Given the description of an element on the screen output the (x, y) to click on. 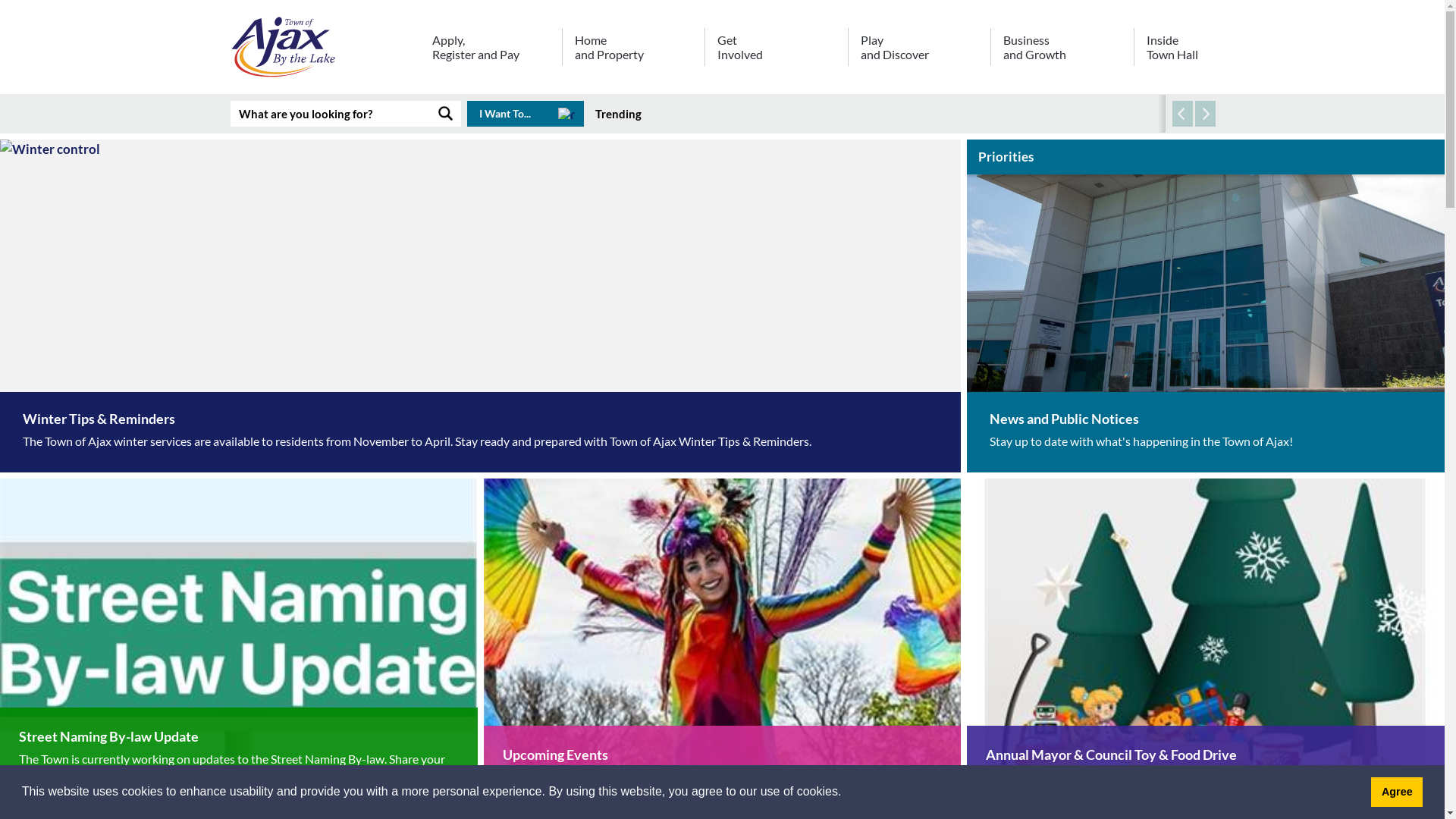
SEARCH Element type: text (445, 113)
Agree Element type: text (1396, 791)
Apply,
Register and Pay Element type: text (489, 51)
Play
and Discover Element type: text (918, 51)
Get
Involved Element type: text (775, 51)
Home
and Property Element type: text (632, 51)
I Want To... Element type: text (525, 113)
Click to return to the homepage Element type: hover (285, 46)
View our Homepage Element type: hover (285, 49)
Business
and Growth Element type: text (1061, 51)
Enter search keywords Element type: hover (330, 113)
Search Element type: text (1055, 210)
Search Element type: text (1055, 466)
Inside
Town Hall Element type: text (1173, 51)
Skip to Content Element type: text (0, 0)
